Given the description of an element on the screen output the (x, y) to click on. 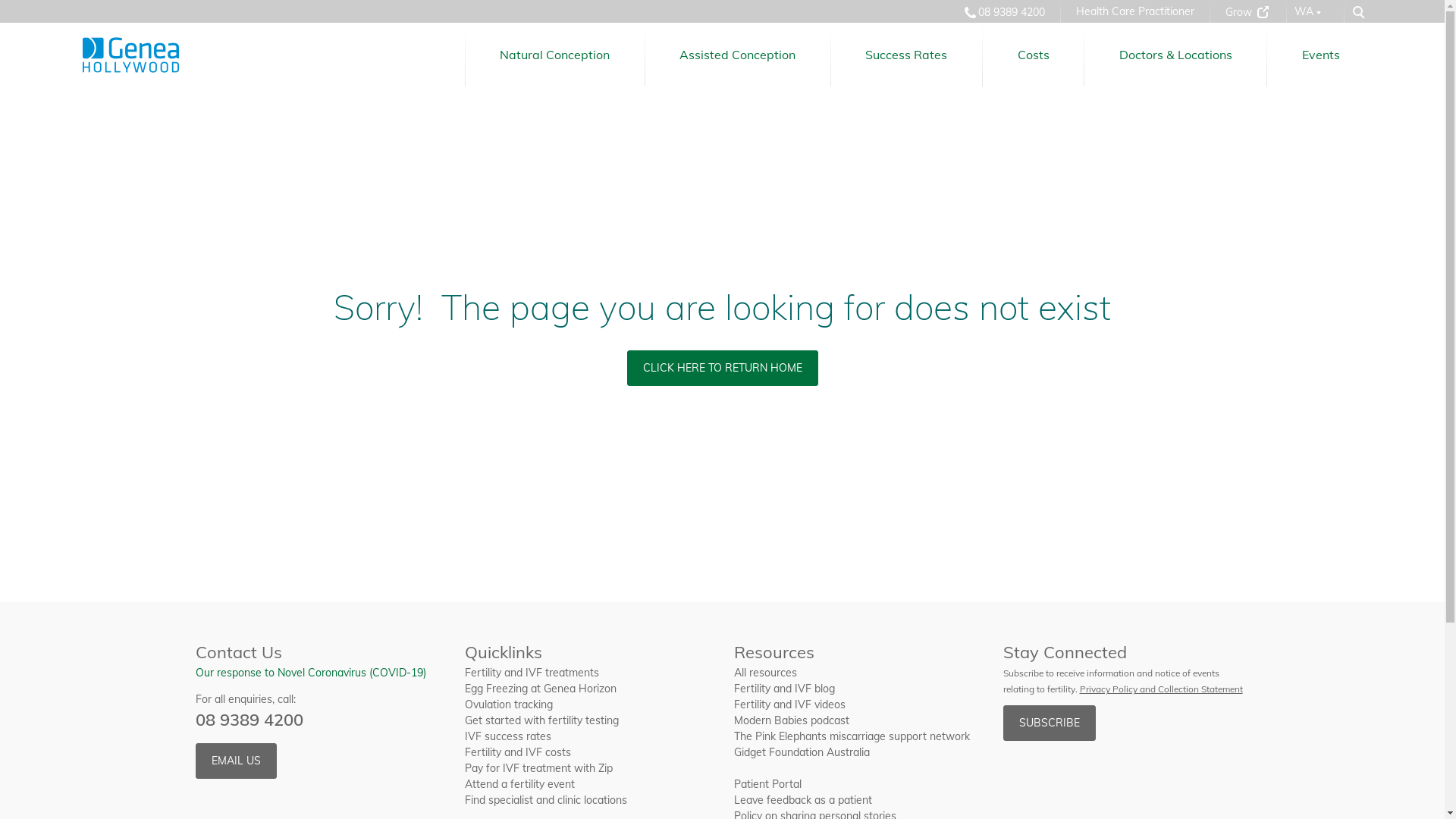
Our response to Novel Coronavirus (COVID-19) Element type: text (310, 672)
Health Care Practitioner Element type: text (1134, 11)
Fertility and IVF treatments Element type: text (531, 672)
EMAIL US Element type: text (235, 760)
Fertility and IVF videos Element type: text (789, 704)
CLICK HERE TO RETURN HOME Element type: text (721, 367)
Stay Connected Element type: text (1125, 652)
Success Rates Element type: text (906, 54)
08 9389 4200 Element type: text (249, 719)
Resources Element type: text (857, 652)
Ovulation tracking Element type: text (508, 704)
Find specialist and clinic locations Element type: text (545, 799)
The Pink Elephants miscarriage support network Element type: text (851, 736)
Modern Babies podcast Element type: text (791, 720)
Gidget Foundation Australia Element type: text (801, 752)
Events Element type: text (1320, 54)
Fertility and IVF blog Element type: text (784, 688)
All resources Element type: text (765, 672)
Privacy Policy and Collection Statement Element type: text (1160, 688)
Grow Element type: text (1248, 12)
Assisted Conception Element type: text (737, 54)
SUBSCRIBE Element type: text (1048, 722)
Get started with fertility testing Element type: text (541, 720)
Doctors & Locations Element type: text (1175, 54)
Leave feedback as a patient Element type: text (803, 799)
Attend a fertility event Element type: text (519, 783)
Egg Freezing at Genea Horizon Element type: text (539, 688)
Quicklinks Element type: text (587, 652)
Costs Element type: text (1032, 54)
08 9389 4200 Element type: text (1002, 12)
Natural Conception Element type: text (554, 54)
Pay for IVF treatment with Zip Element type: text (537, 768)
IVF success rates Element type: text (507, 736)
Contact Us Element type: text (318, 652)
Patient Portal Element type: text (767, 783)
Fertility and IVF costs Element type: text (517, 752)
